Given the description of an element on the screen output the (x, y) to click on. 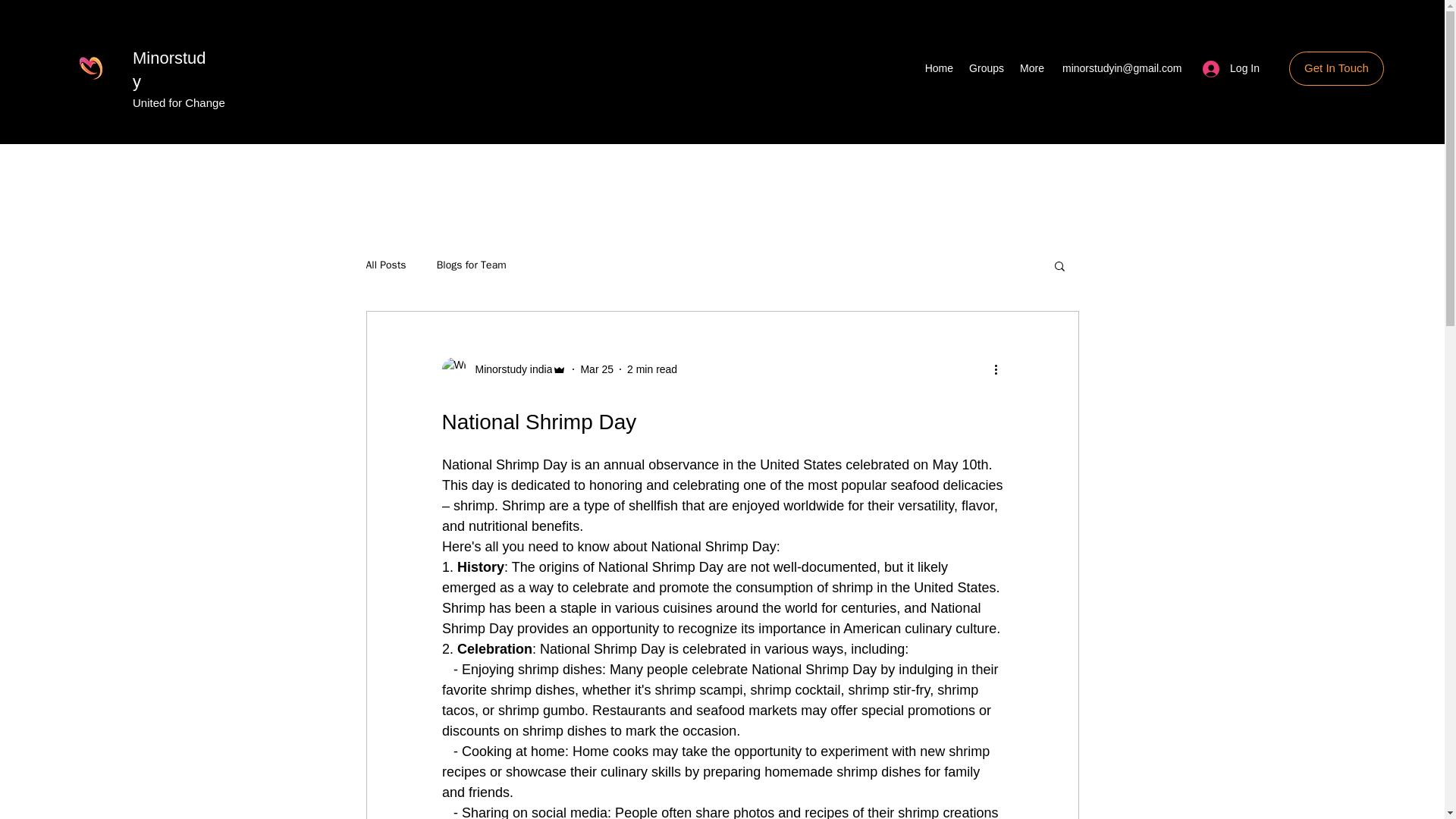
2 min read (652, 369)
Get In Touch (1336, 68)
Minorstudy (169, 69)
Minorstudy india (503, 369)
Minorstudy india (508, 369)
Mar 25 (595, 369)
Blogs for Team (471, 264)
Log In (1230, 68)
Groups (985, 67)
Home (938, 67)
All Posts (385, 264)
